Given the description of an element on the screen output the (x, y) to click on. 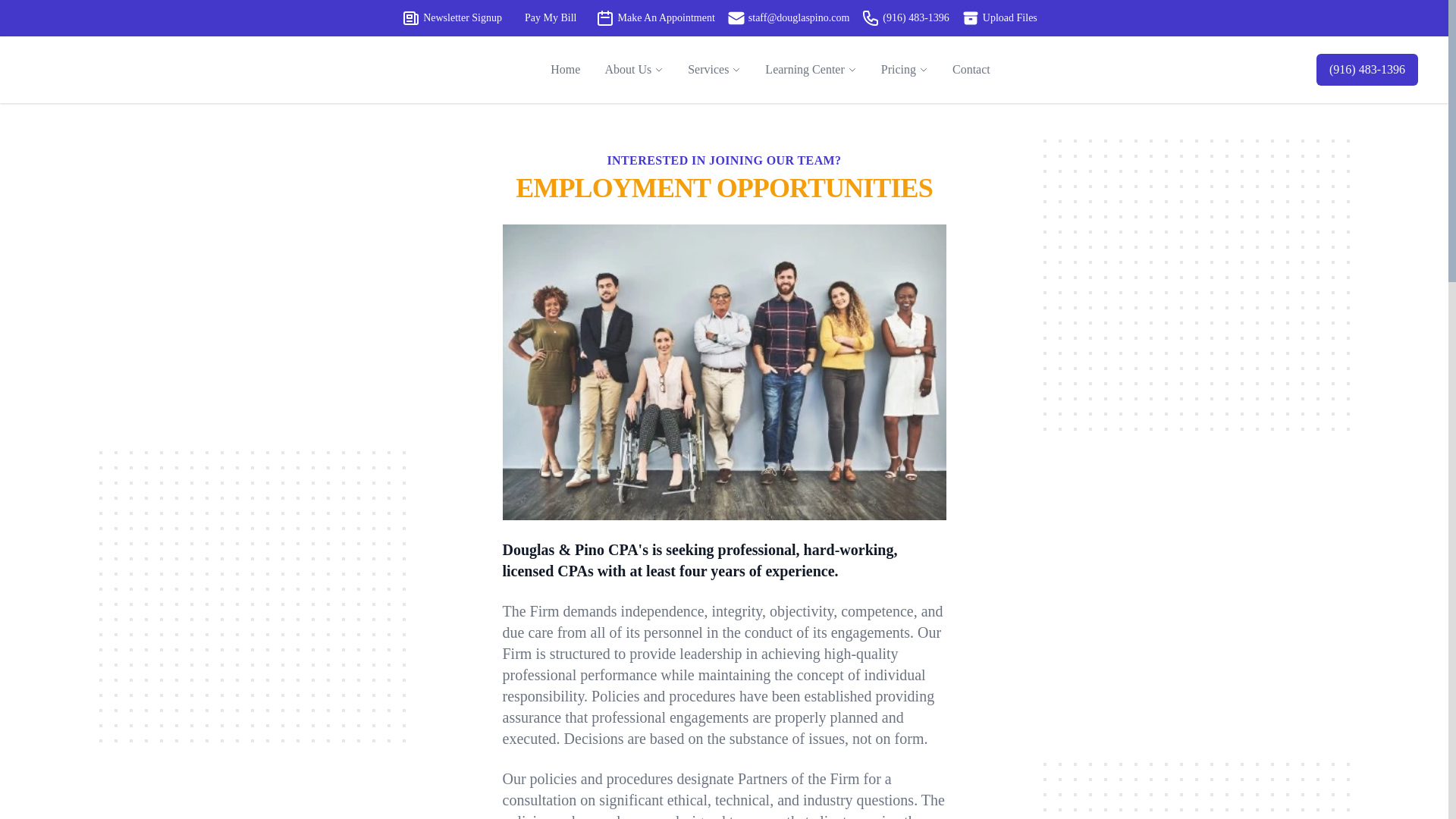
Home (565, 69)
Upload Files (998, 18)
Make An Appointment (654, 18)
Newsletter Signup (410, 18)
Home (565, 69)
Make An Appointment (604, 18)
Newsletter Signup (451, 18)
About Us (627, 69)
Pay My Bill (548, 18)
Services (708, 69)
Contact (971, 69)
